Given the description of an element on the screen output the (x, y) to click on. 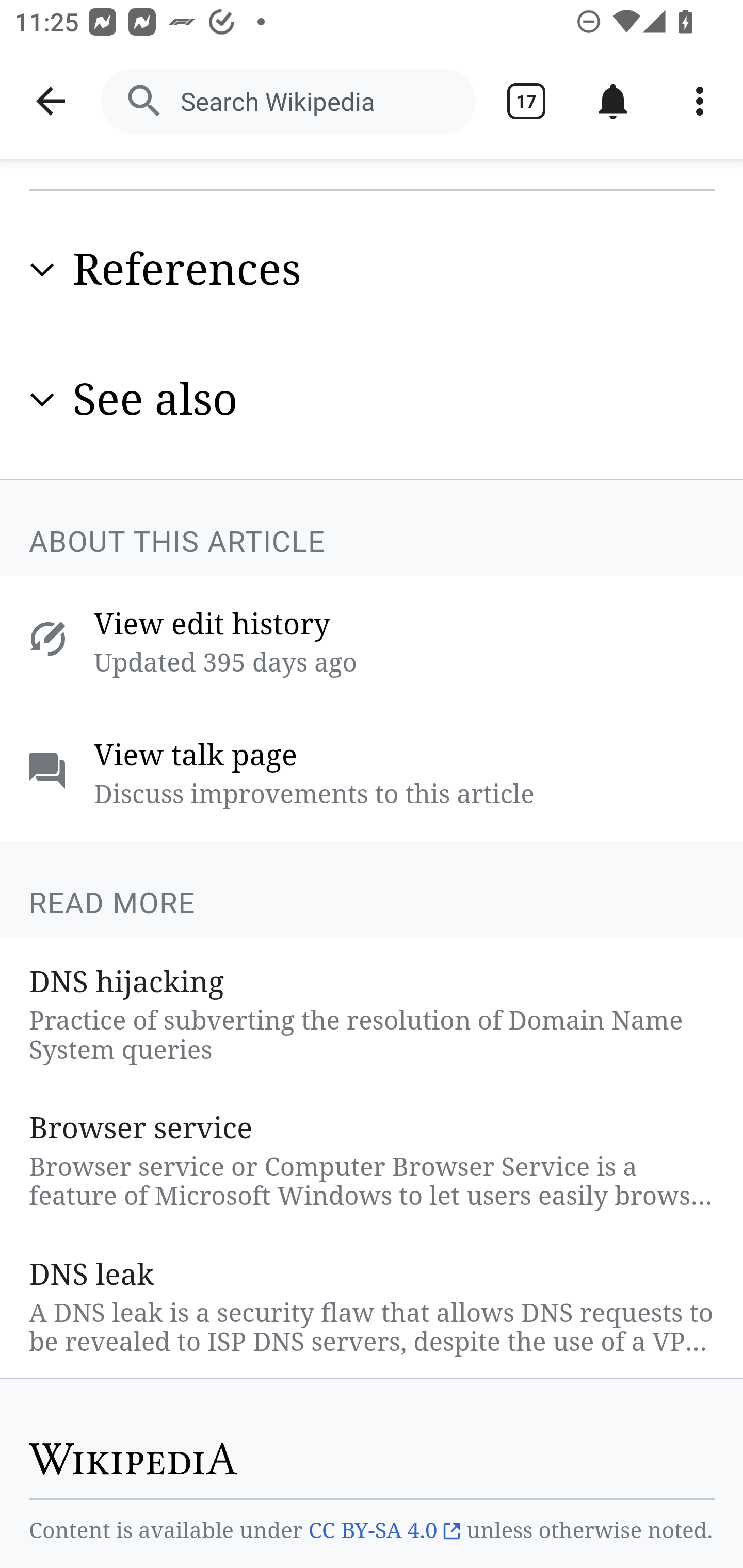
Show tabs 17 (525, 100)
Notifications (612, 100)
Navigate up (50, 101)
More options (699, 101)
Search Wikipedia (288, 100)
autonomous system (167, 105)
Expand section References (372, 269)
Expand section (41, 270)
Expand section See also (372, 399)
Expand section (41, 398)
CC BY-SA 4.0 (384, 1531)
